Given the description of an element on the screen output the (x, y) to click on. 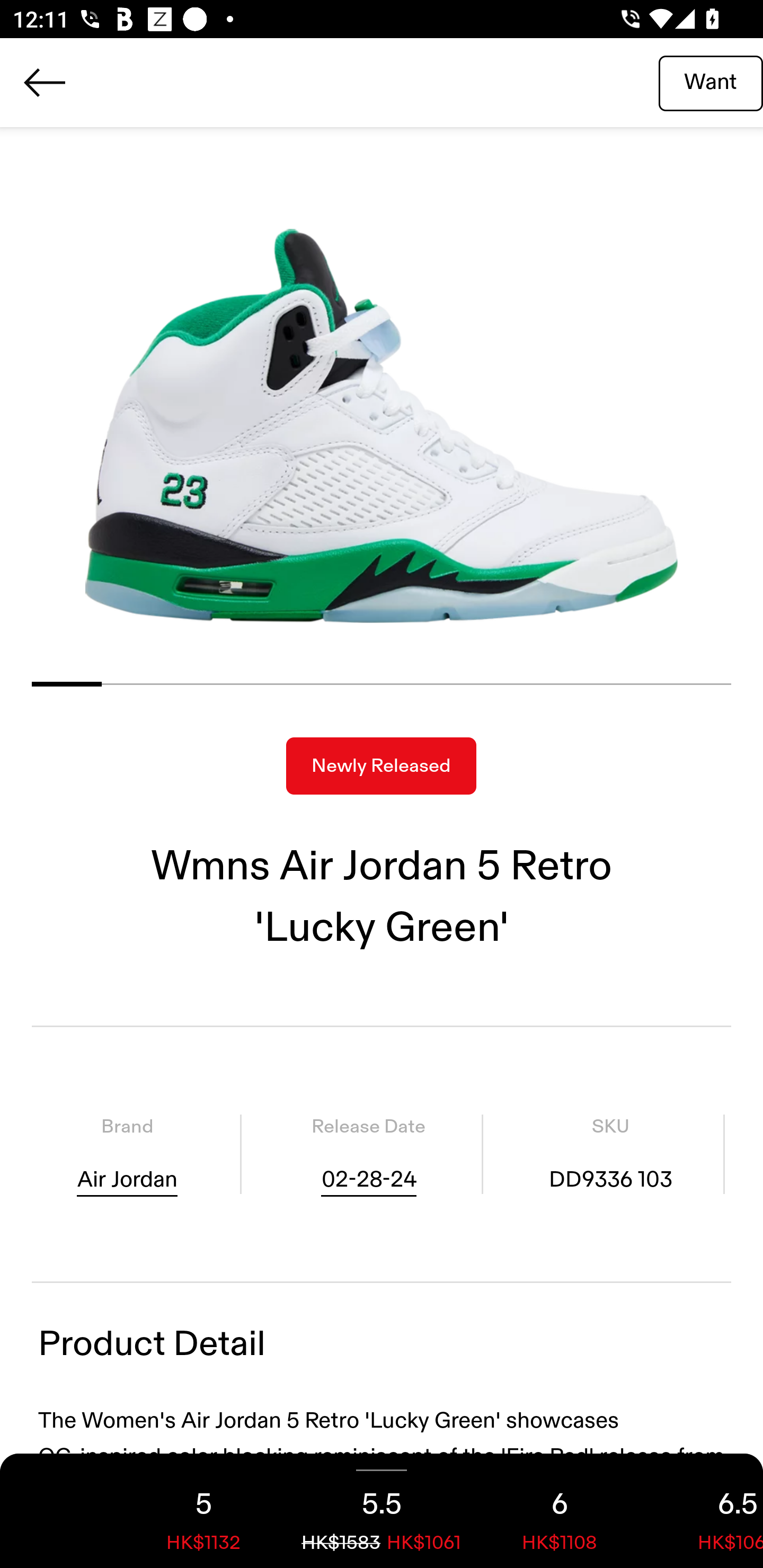
Want (710, 82)
Newly Released (381, 765)
Brand Air Jordan (126, 1153)
Release Date 02-28-24 (368, 1153)
SKU DD9336 103 (609, 1153)
5 HK$1132 (203, 1510)
5.5 HK$1583 HK$1061 (381, 1510)
6 HK$1108 (559, 1510)
6.5 HK$1068 (705, 1510)
